Given the description of an element on the screen output the (x, y) to click on. 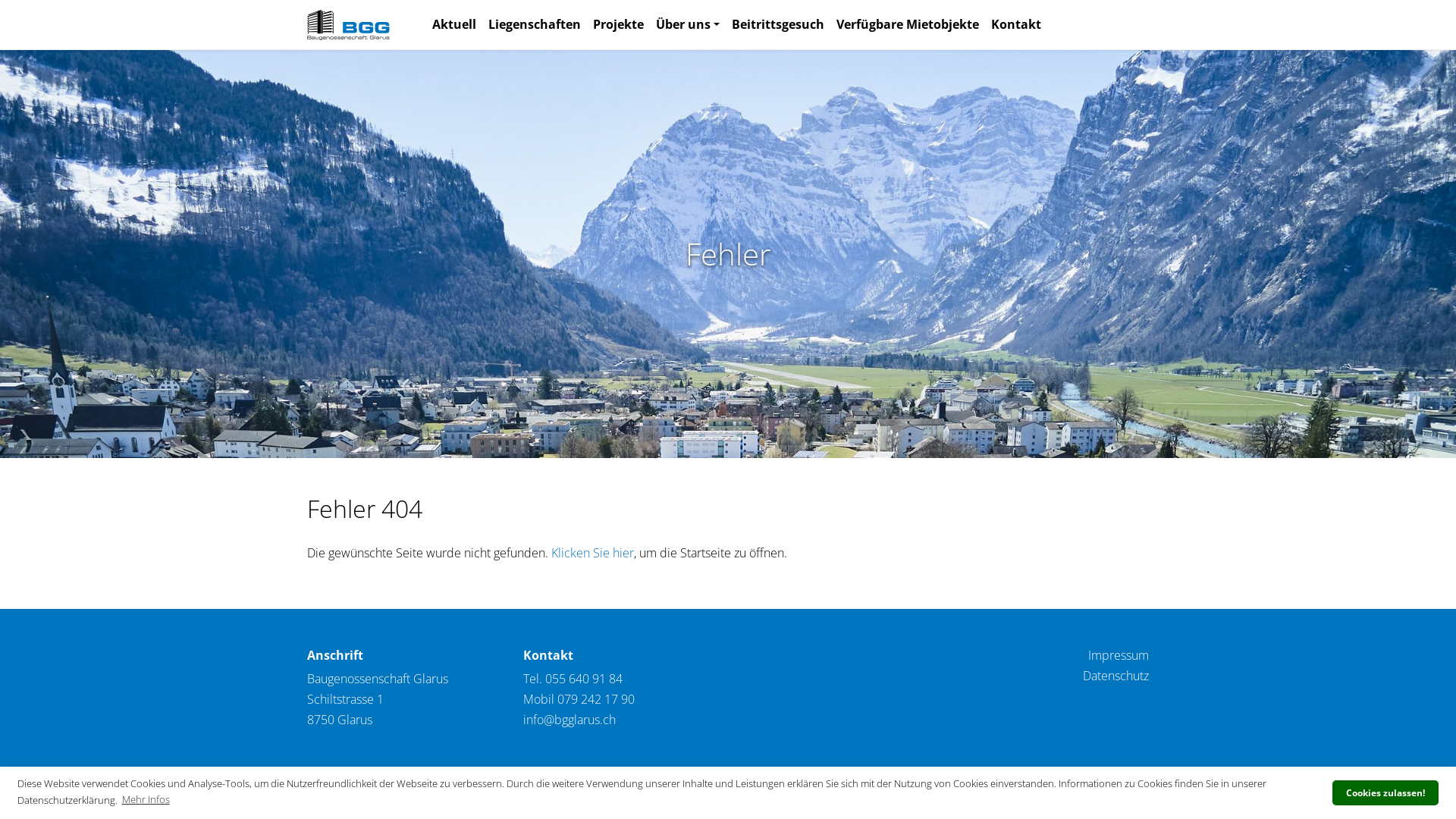
Kontakt Element type: text (1016, 24)
info@bgglarus.ch Element type: text (569, 719)
079 242 17 90 Element type: text (595, 698)
Liegenschaften Element type: text (534, 24)
Baugenossenschaft Glarus Element type: hover (348, 24)
Cookies zulassen! Element type: text (1385, 792)
Mehr Infos Element type: text (145, 799)
Klicken Sie hier Element type: text (592, 552)
Beitrittsgesuch Element type: text (777, 24)
Datenschutz Element type: text (1115, 675)
055 640 91 84 Element type: text (583, 678)
Aktuell Element type: text (454, 24)
Impressum Element type: text (1118, 654)
Projekte Element type: text (617, 24)
